Given the description of an element on the screen output the (x, y) to click on. 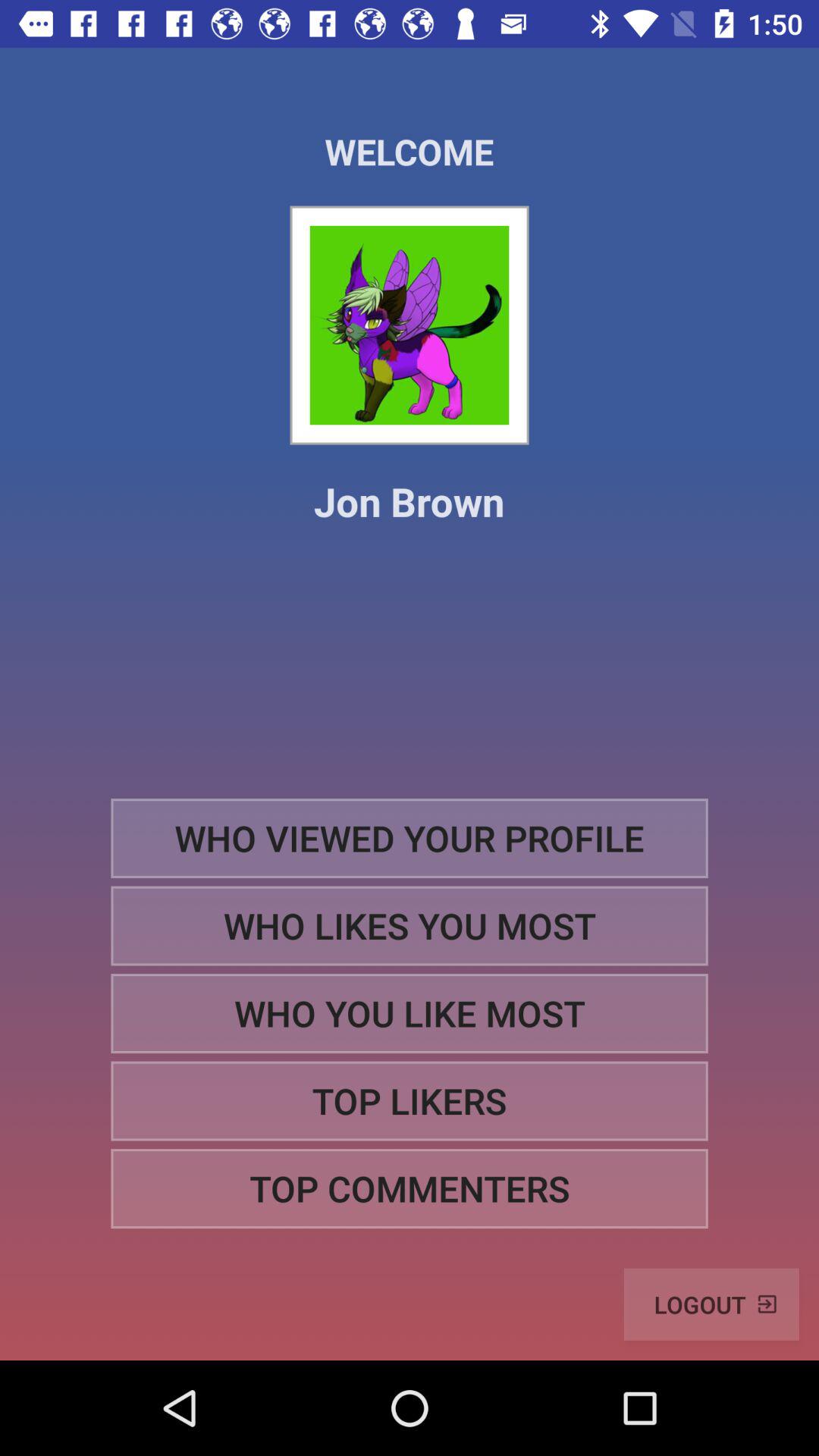
flip to the top commenters (409, 1188)
